Given the description of an element on the screen output the (x, y) to click on. 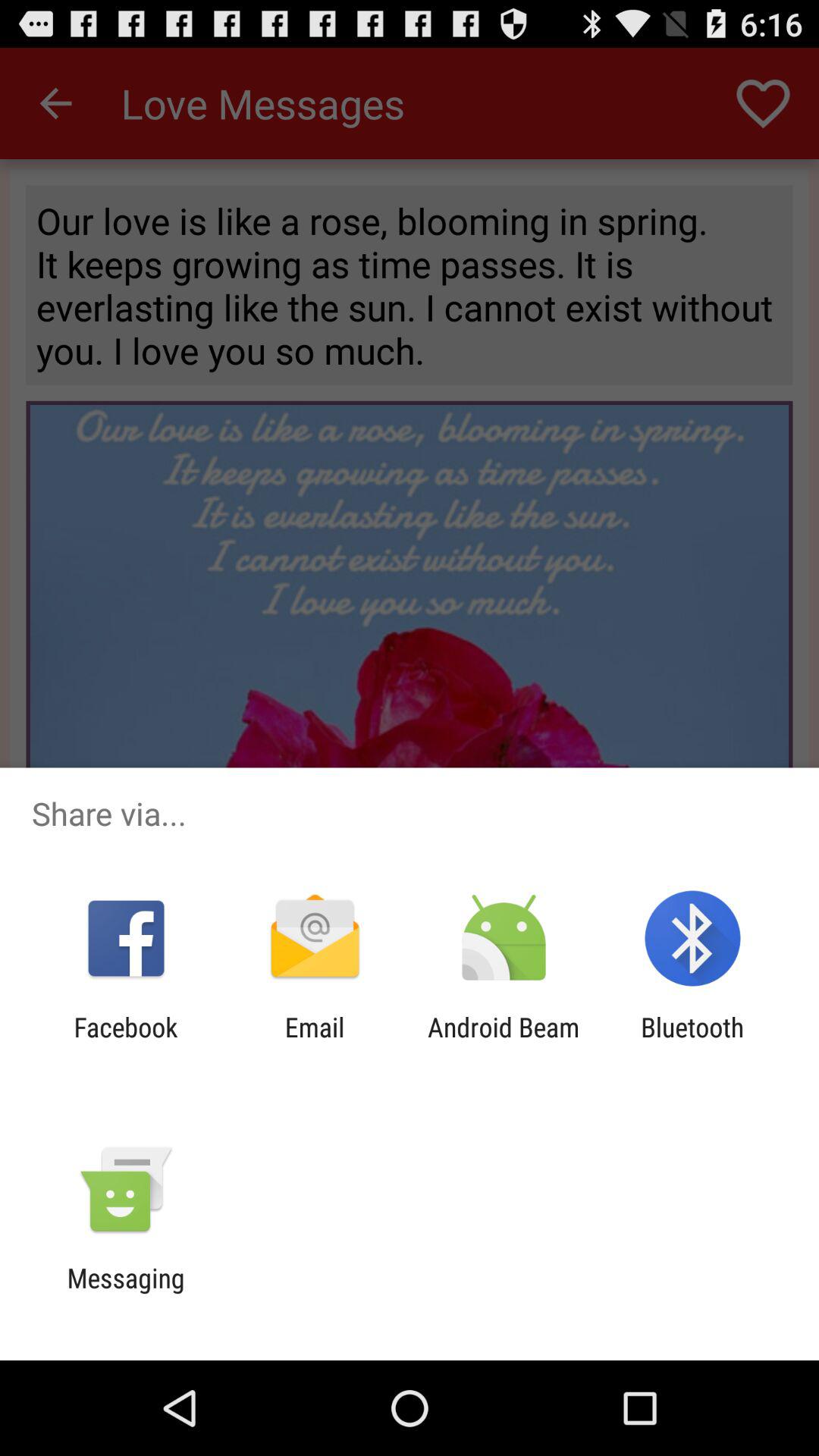
tap icon to the right of the email app (503, 1042)
